Given the description of an element on the screen output the (x, y) to click on. 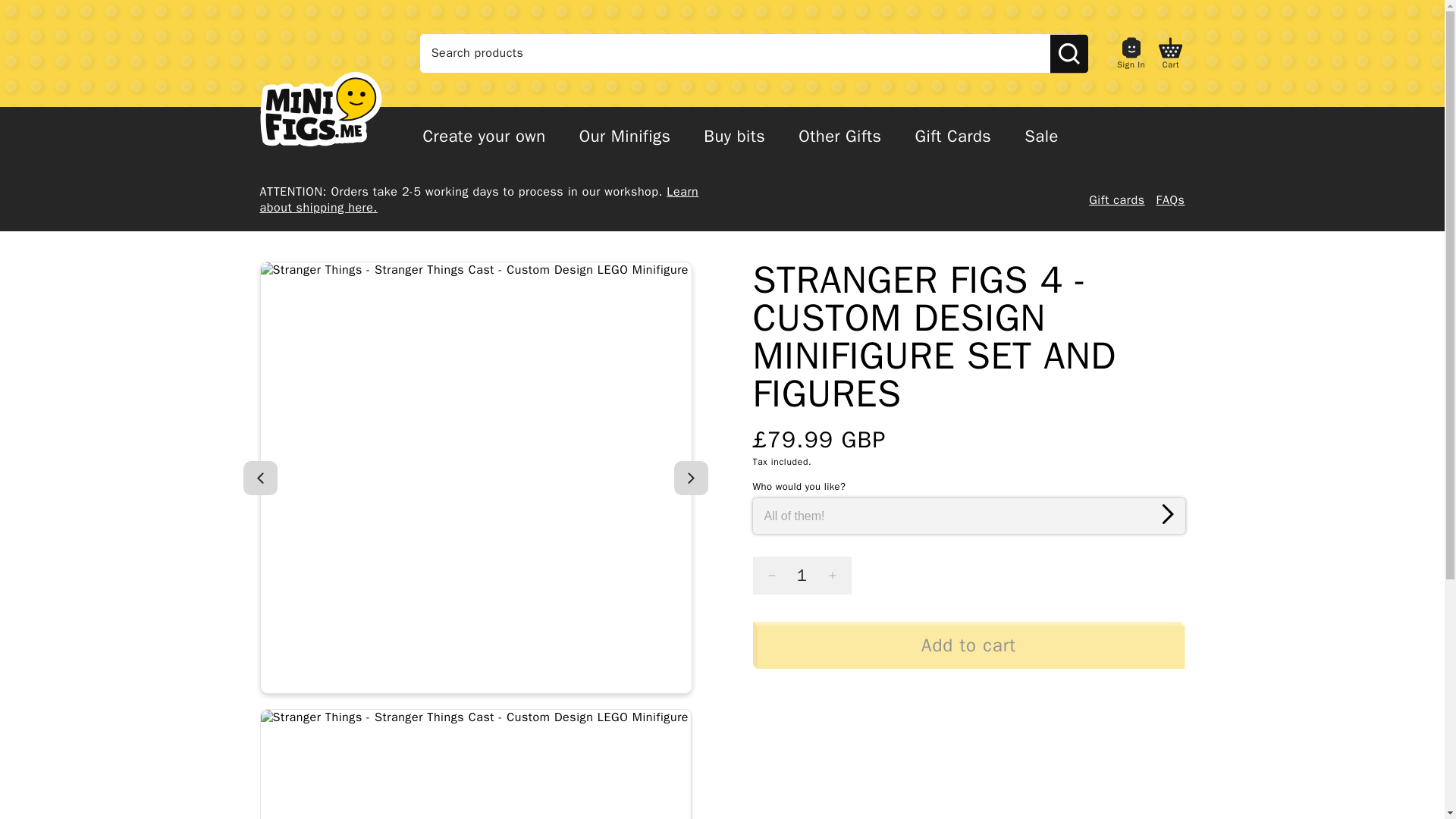
Create your own (483, 137)
Other Gifts (839, 137)
Gift Cards (952, 137)
FAQs (1170, 200)
1 (801, 575)
Buy bits (734, 137)
Learn about shipping here. (478, 199)
Skip to content (18, 12)
Our Minifigs (624, 137)
Gift cards (1116, 200)
